Given the description of an element on the screen output the (x, y) to click on. 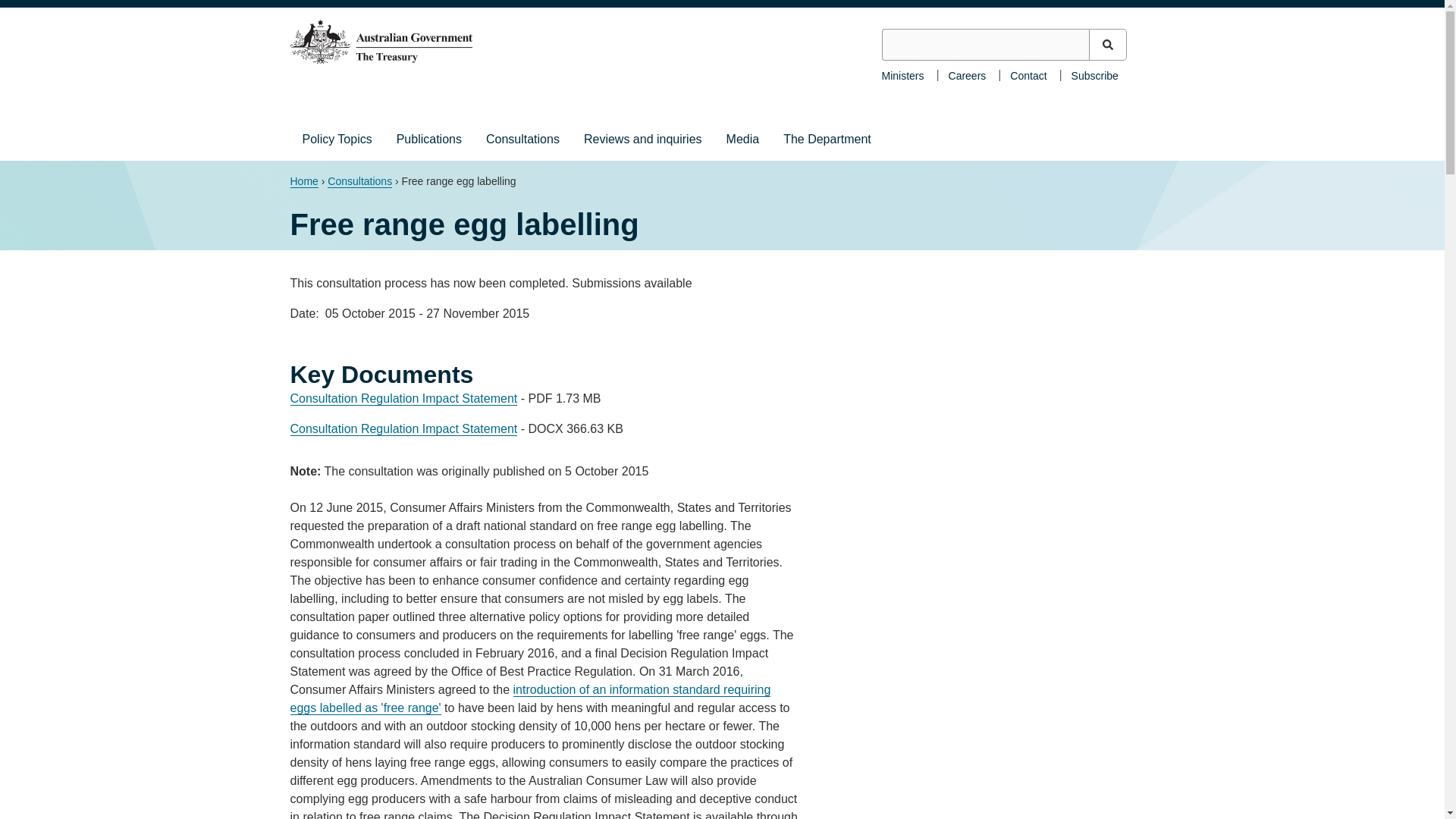
Contact (1028, 74)
Publications (429, 138)
Consultations (523, 138)
Home (303, 181)
Consultations (359, 181)
Careers (968, 74)
Policy Topics (336, 138)
Consultation Regulation Impact Statement (402, 428)
Ministers (901, 74)
